Given the description of an element on the screen output the (x, y) to click on. 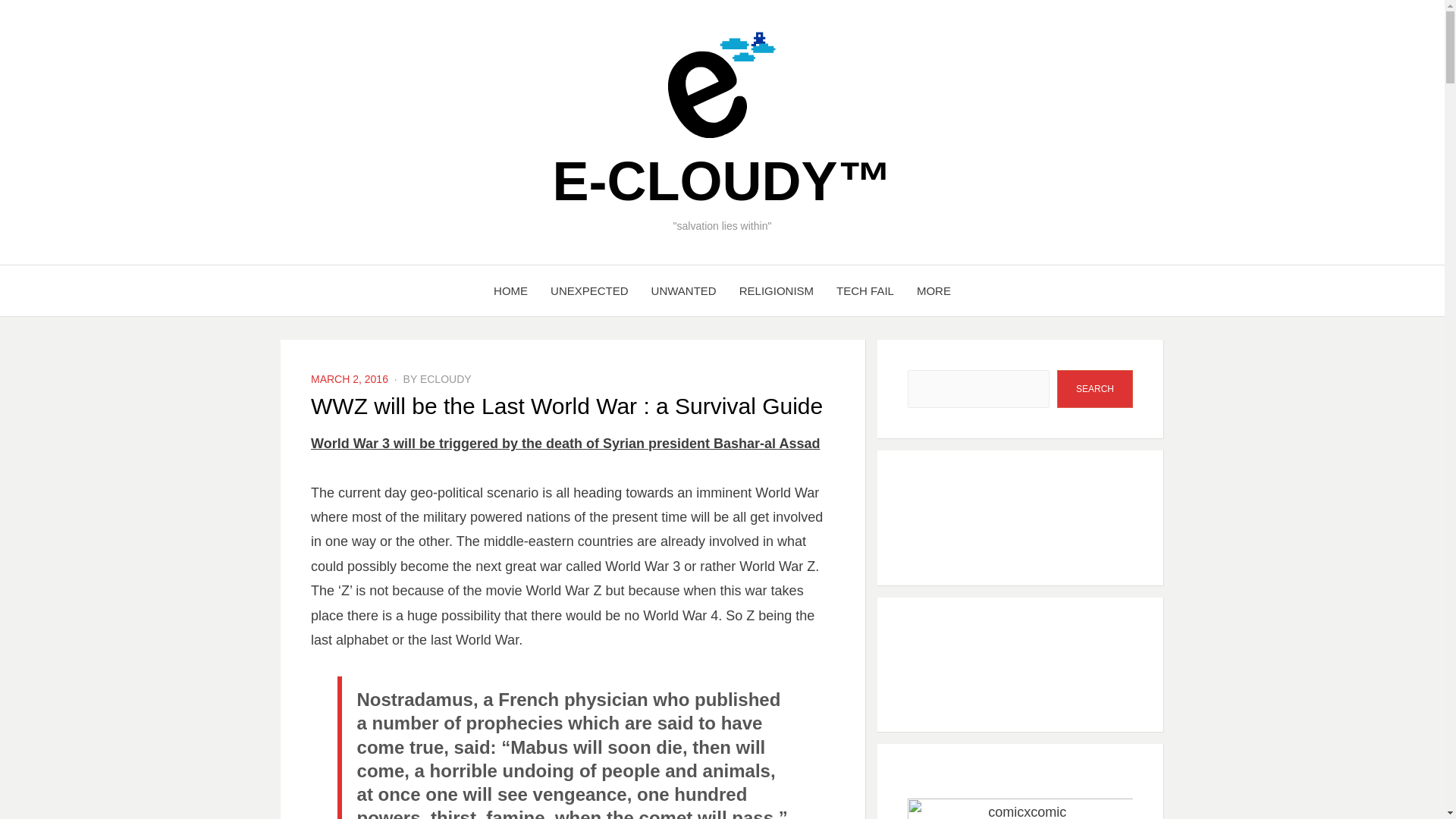
ECLOUDY (445, 378)
MORE (933, 290)
RELIGIONISM (776, 290)
TECH FAIL (865, 290)
MARCH 2, 2016 (349, 378)
UNWANTED (684, 290)
UNEXPECTED (589, 290)
HOME (509, 290)
